Given the description of an element on the screen output the (x, y) to click on. 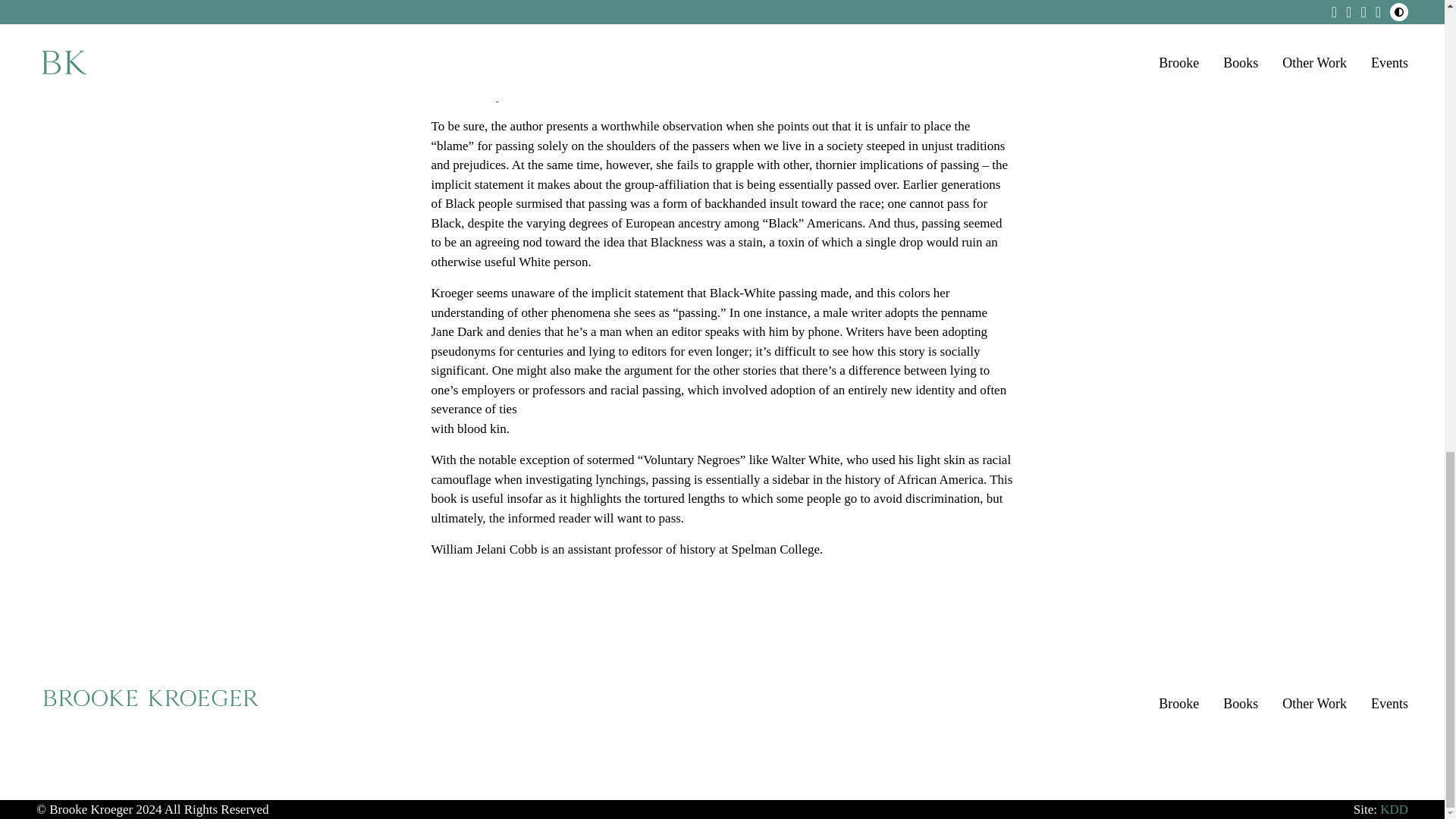
Events (1389, 703)
Other Work (1314, 703)
KDD (1393, 809)
Brooke (1178, 703)
